Given the description of an element on the screen output the (x, y) to click on. 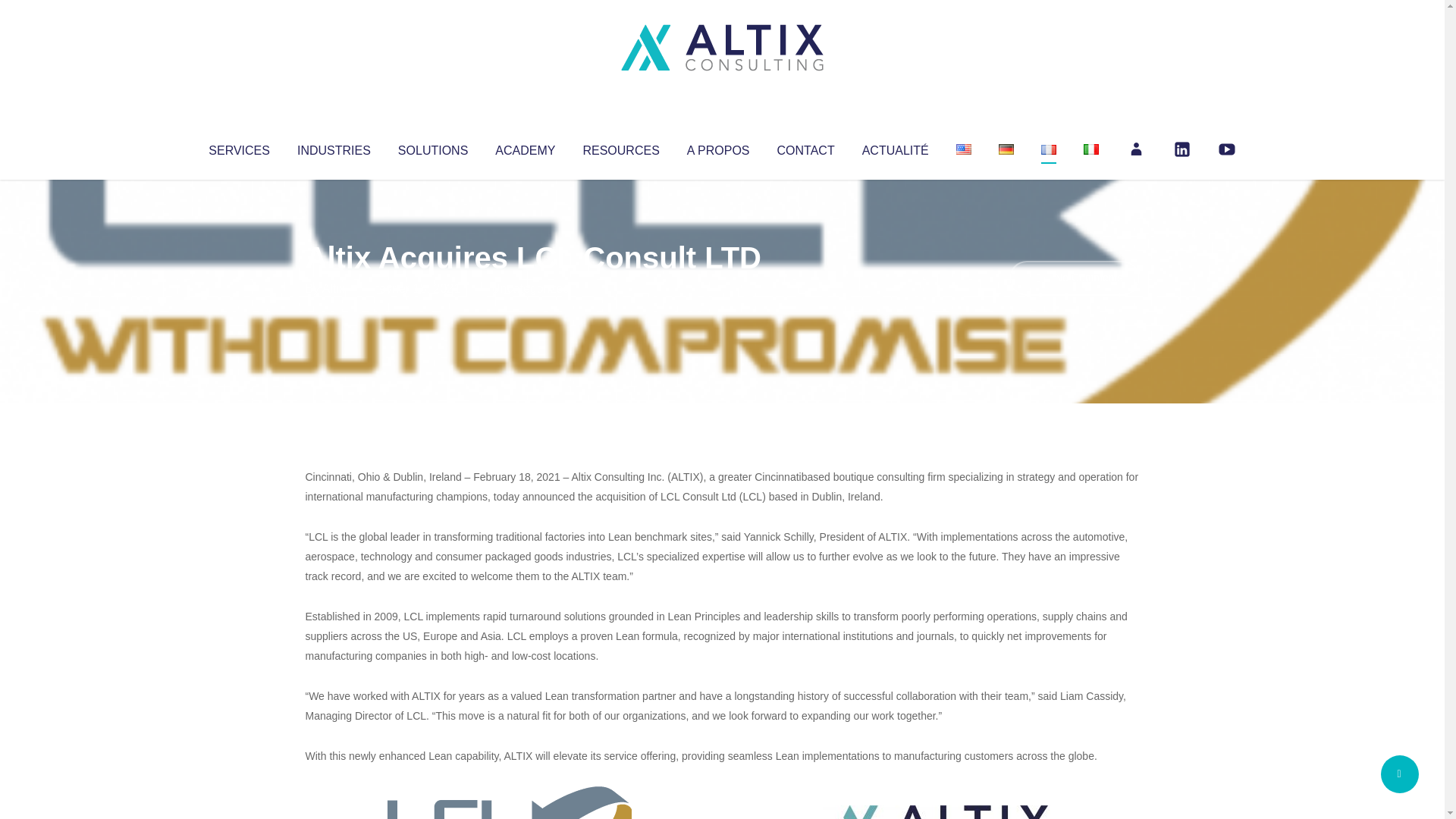
A PROPOS (718, 146)
INDUSTRIES (334, 146)
SOLUTIONS (432, 146)
RESOURCES (620, 146)
ACADEMY (524, 146)
Altix (333, 287)
No Comments (1073, 278)
SERVICES (238, 146)
Uncategorized (530, 287)
Articles par Altix (333, 287)
